Given the description of an element on the screen output the (x, y) to click on. 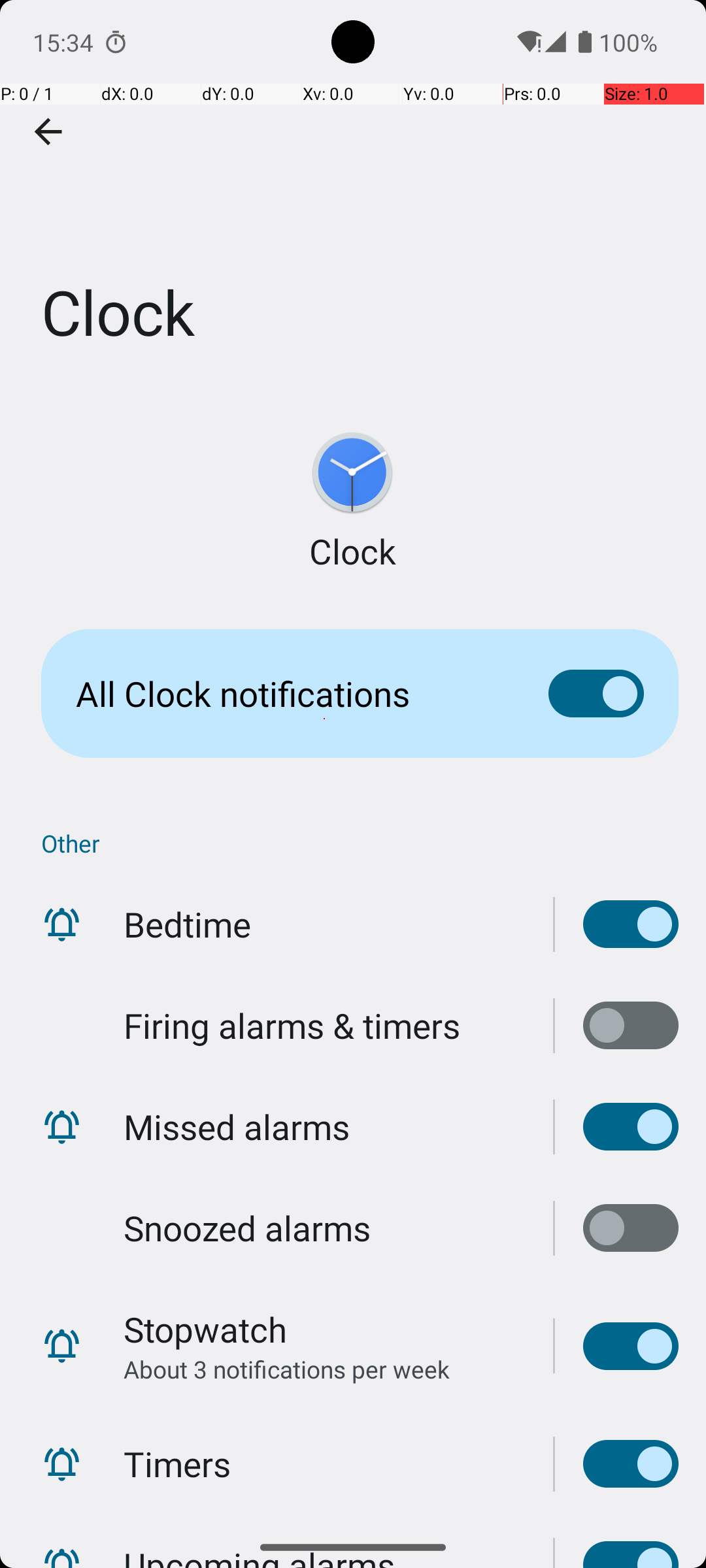
All Clock notifications Element type: android.widget.TextView (291, 693)
Firing alarms & timers Element type: android.widget.TextView (291, 1025)
Missed alarms Element type: android.widget.TextView (236, 1126)
Snoozed alarms Element type: android.widget.TextView (247, 1227)
About 3 notifications per week Element type: android.widget.TextView (286, 1368)
Timers Element type: android.widget.TextView (176, 1463)
Upcoming alarms Element type: android.widget.Switch (616, 1520)
